Given the description of an element on the screen output the (x, y) to click on. 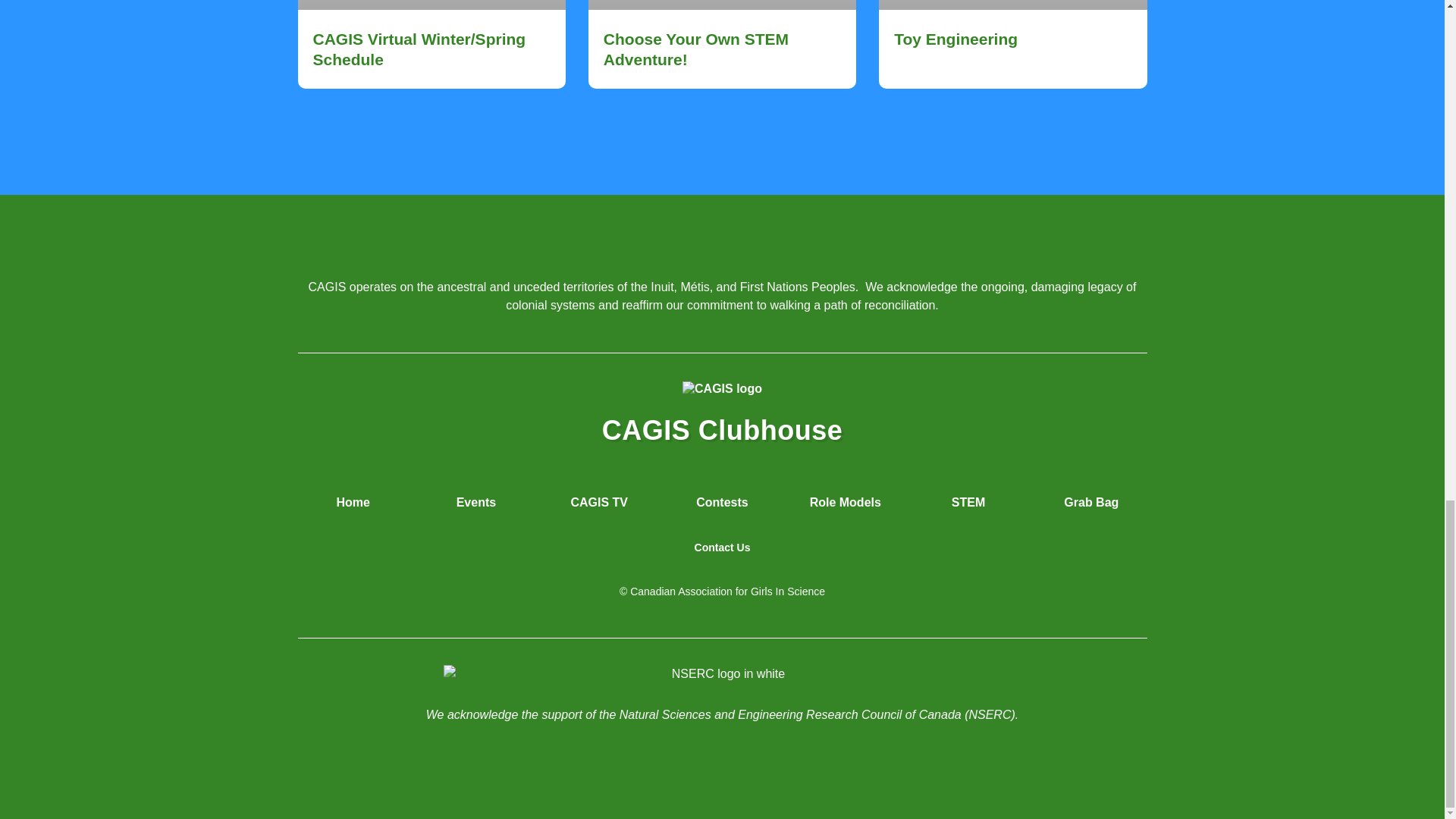
CAGIS Clubhouse (722, 429)
Choose Your Own STEM Adventure! (696, 48)
Toy Engineering (955, 38)
